Given the description of an element on the screen output the (x, y) to click on. 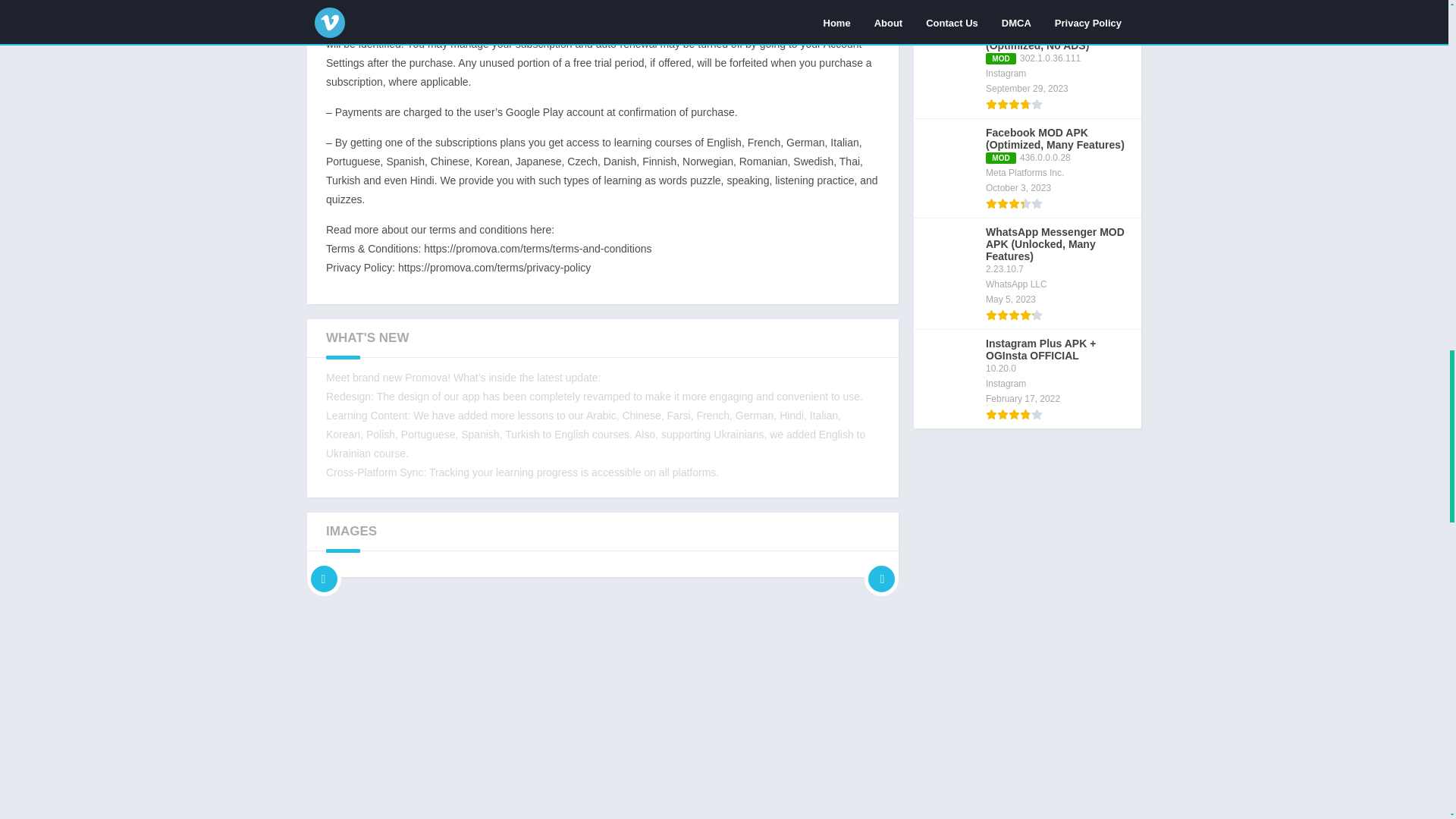
Advertisement (602, 698)
